Given the description of an element on the screen output the (x, y) to click on. 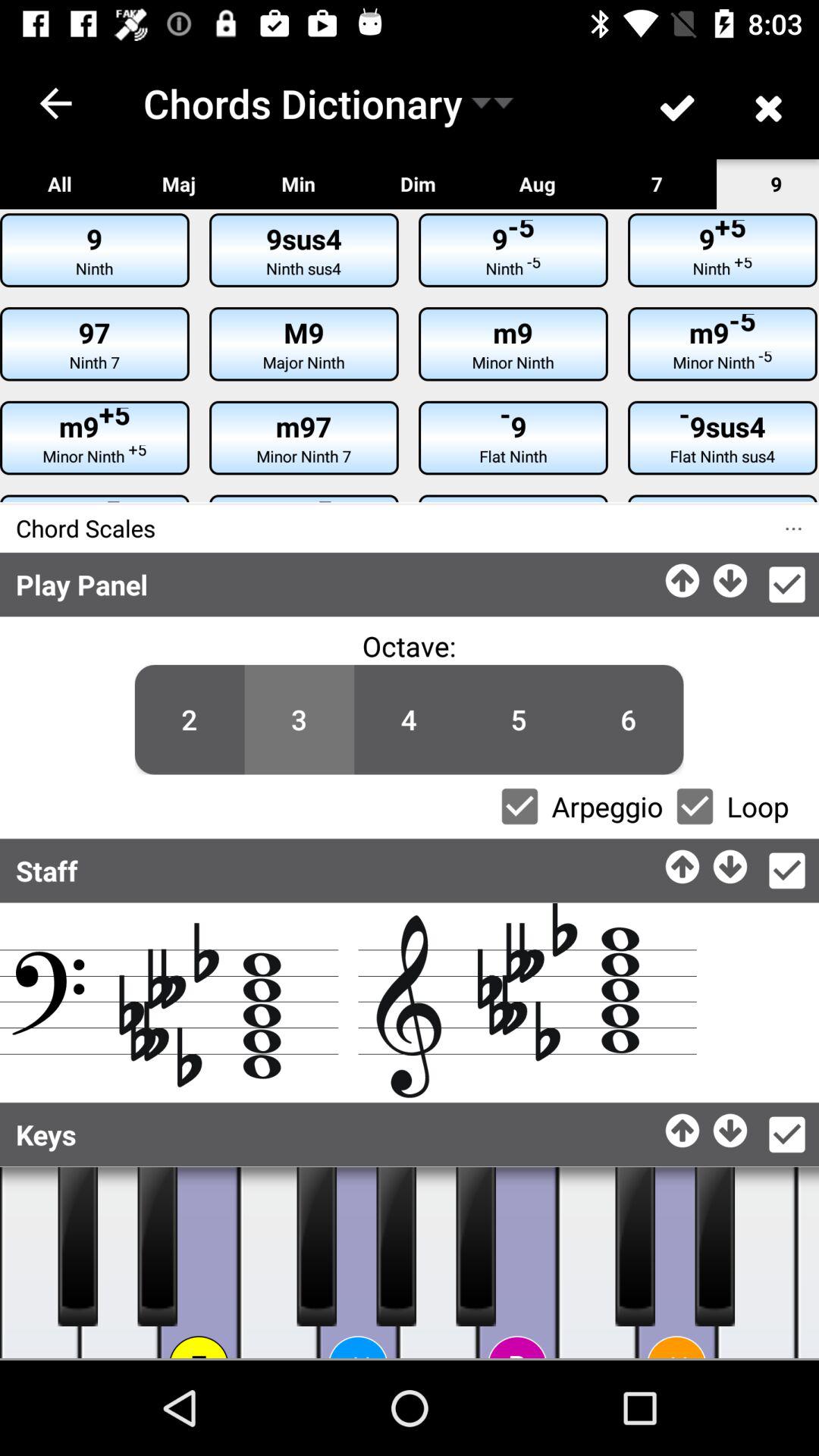
music keys button (39, 1262)
